Given the description of an element on the screen output the (x, y) to click on. 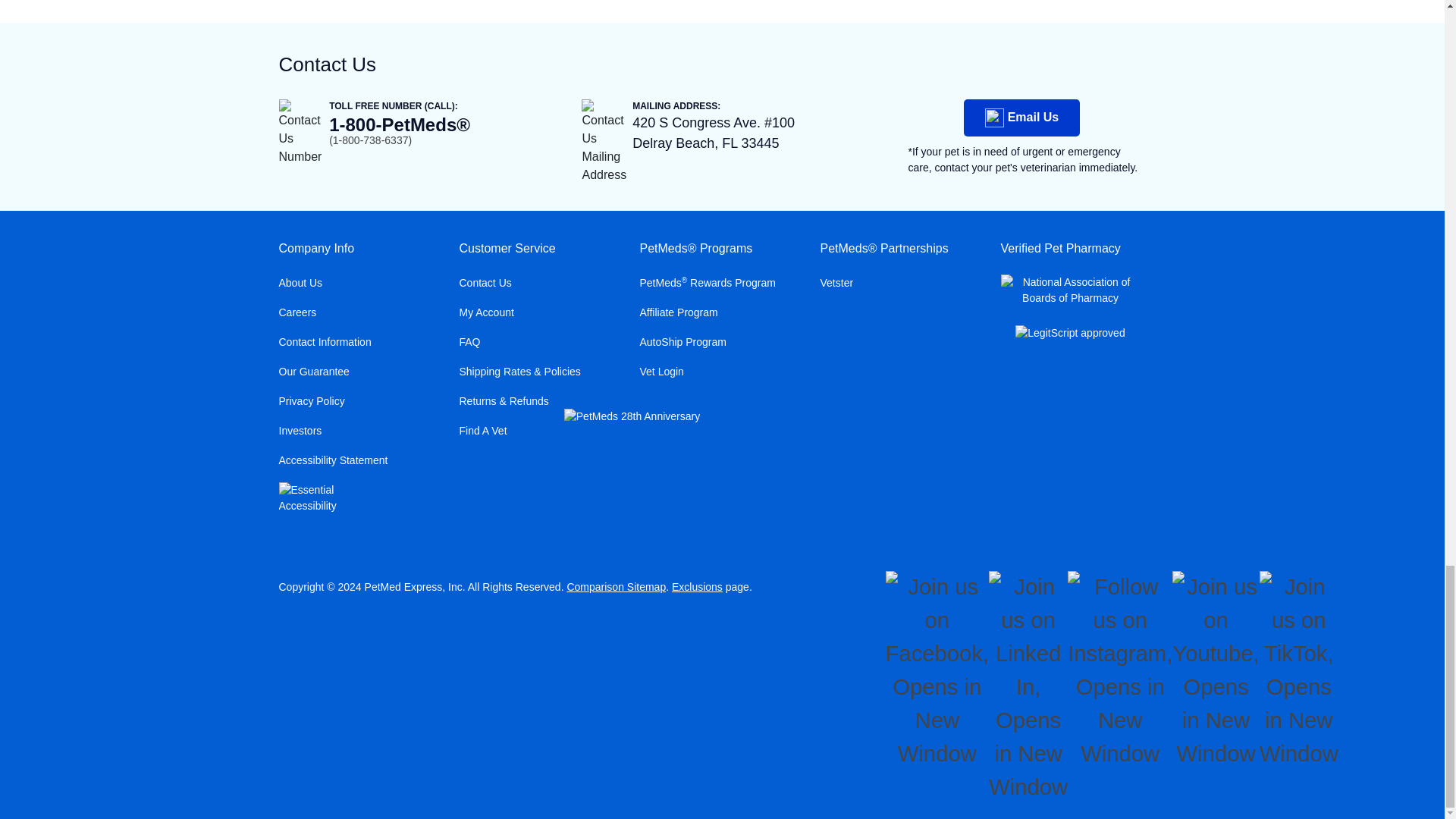
National Association of Boards of Pharmacy (1070, 290)
Verify LegitScript Approval (1070, 335)
PetMeds 28th Anniversary (632, 416)
Essential Accessibility (311, 498)
